Given the description of an element on the screen output the (x, y) to click on. 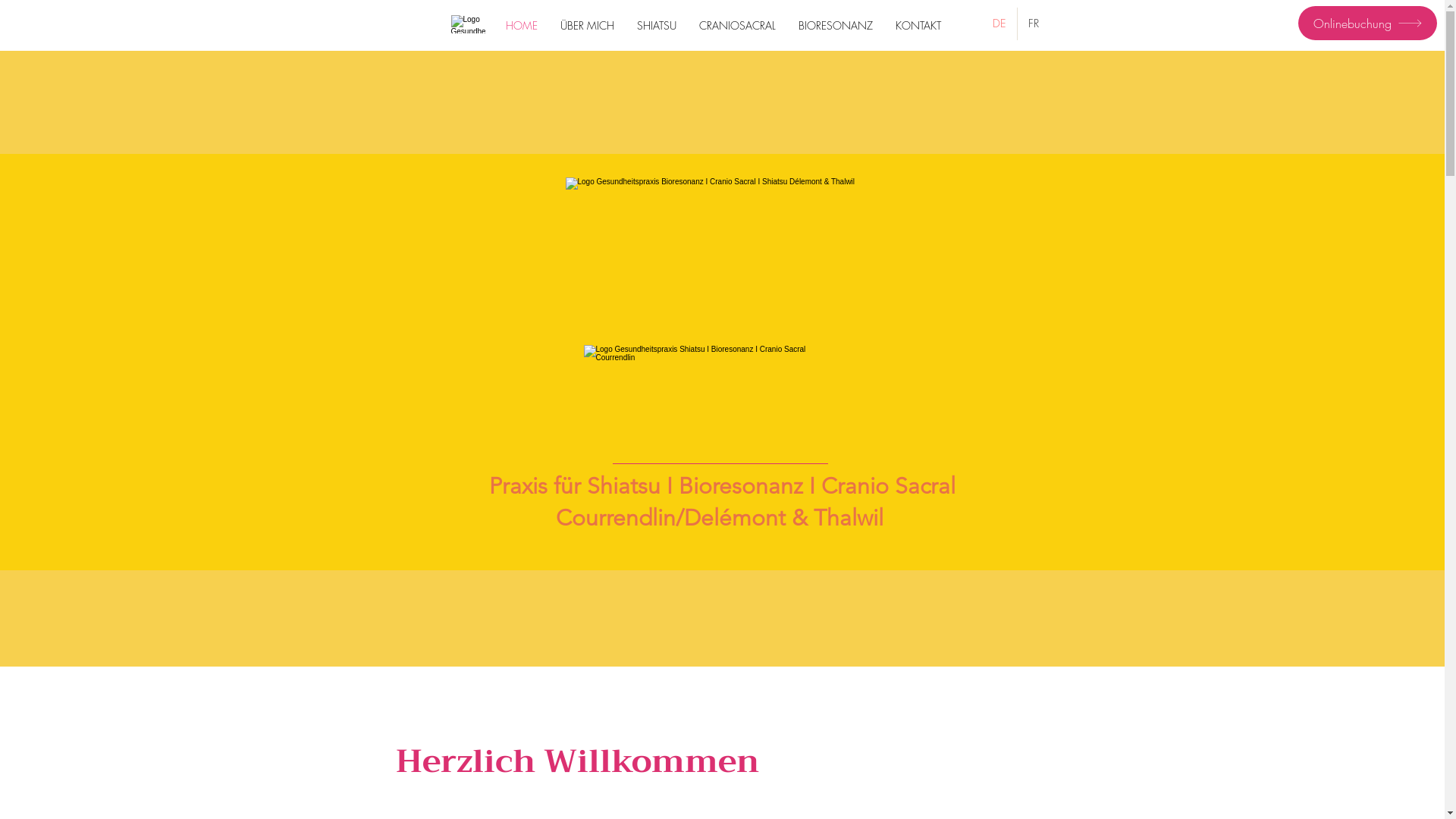
Onlinebuchung Element type: text (1367, 23)
HOME Element type: text (521, 25)
DE Element type: text (998, 23)
KONTAKT Element type: text (918, 25)
SHIATSU Element type: text (655, 25)
CRANIOSACRAL Element type: text (736, 25)
BIORESONANZ Element type: text (835, 25)
FR Element type: text (1032, 23)
